Given the description of an element on the screen output the (x, y) to click on. 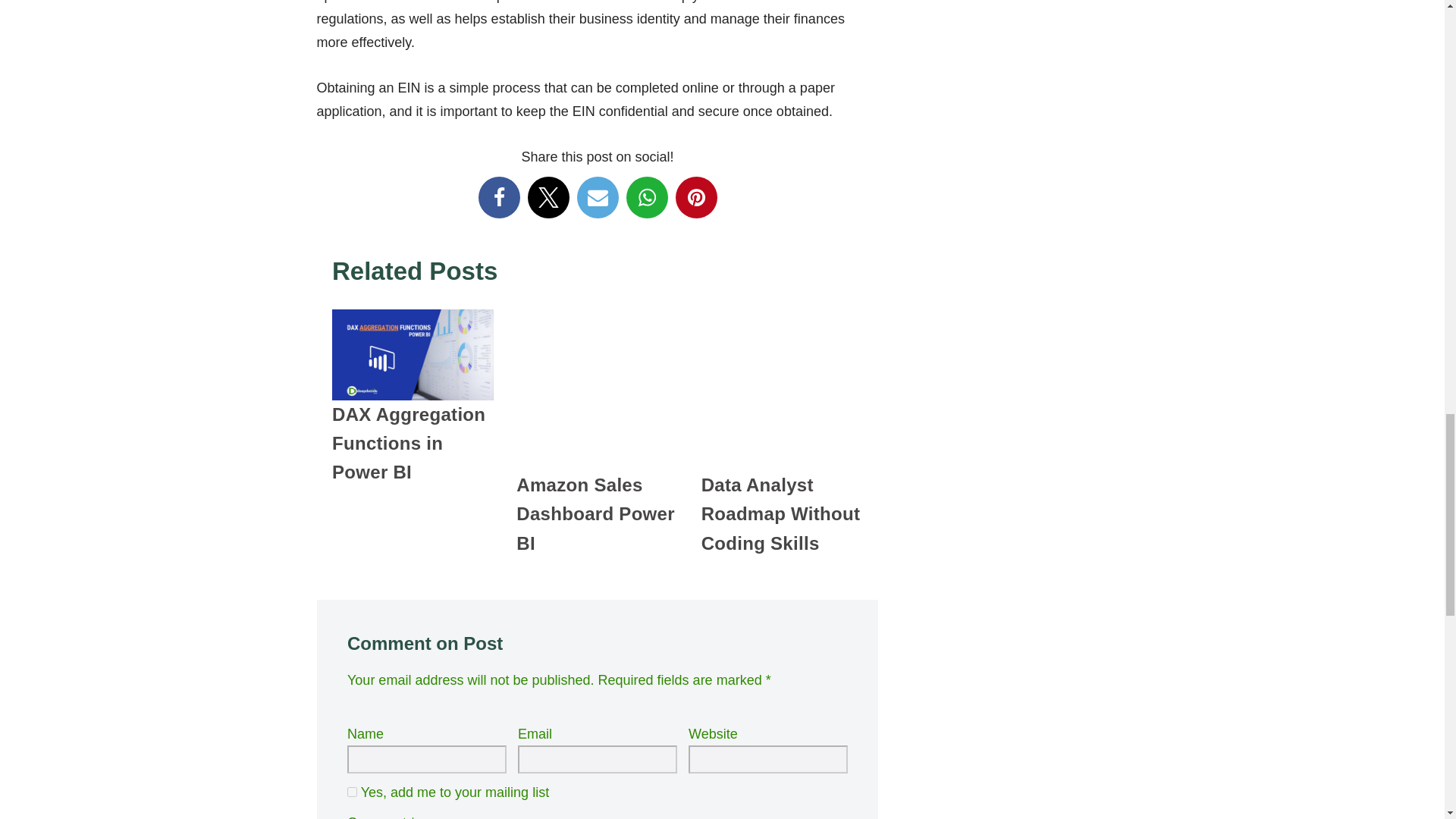
WhatsApp (646, 197)
Email (596, 197)
Data Analyst Roadmap Without Coding Skills (780, 514)
pinterest (695, 197)
X (548, 197)
Amazon Sales Dashboard Power BI (595, 514)
Facebook (498, 197)
DAX Aggregation Functions in Power BI (407, 442)
1 (351, 791)
